Given the description of an element on the screen output the (x, y) to click on. 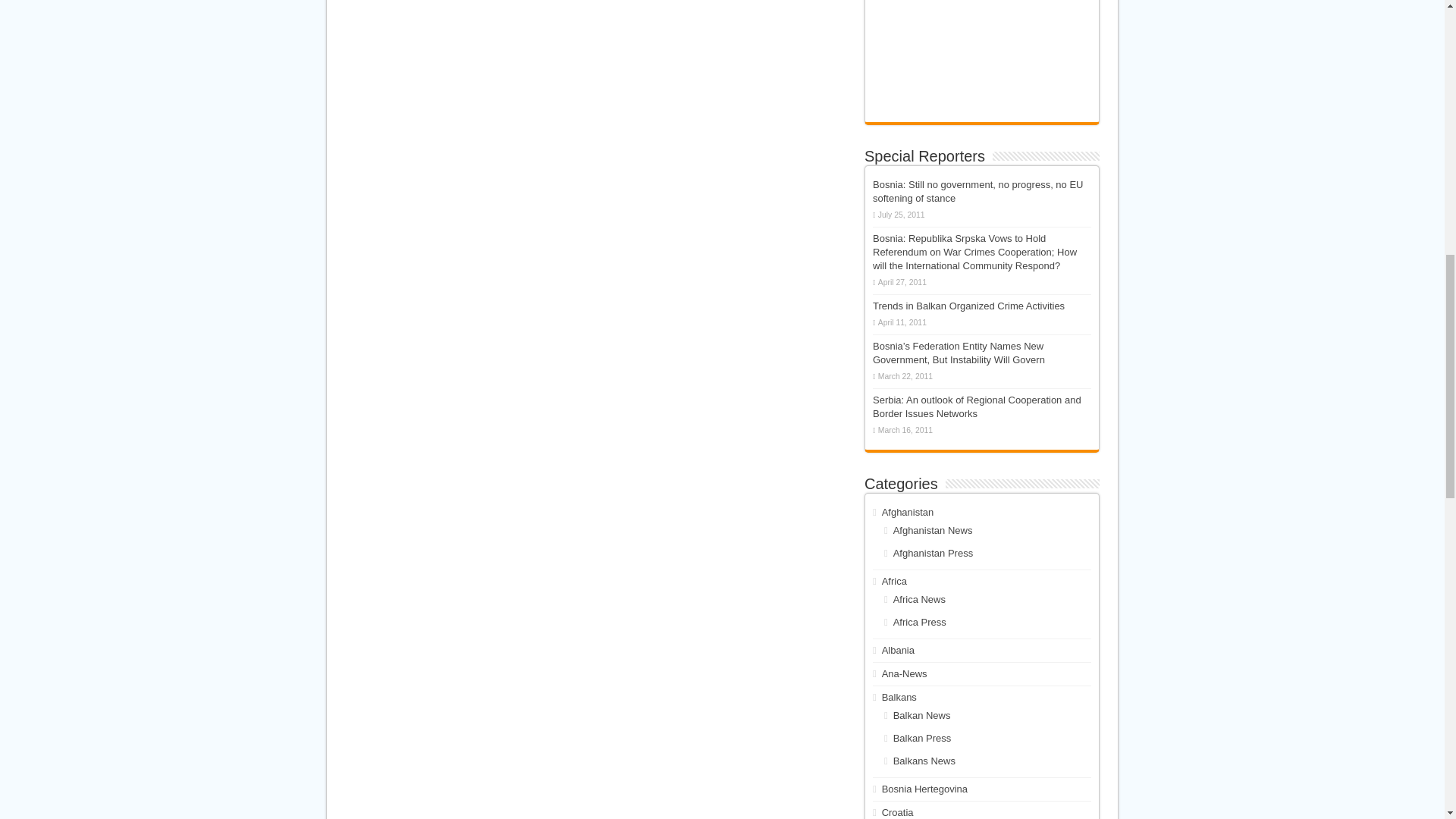
Scroll To Top (1421, 60)
